Given the description of an element on the screen output the (x, y) to click on. 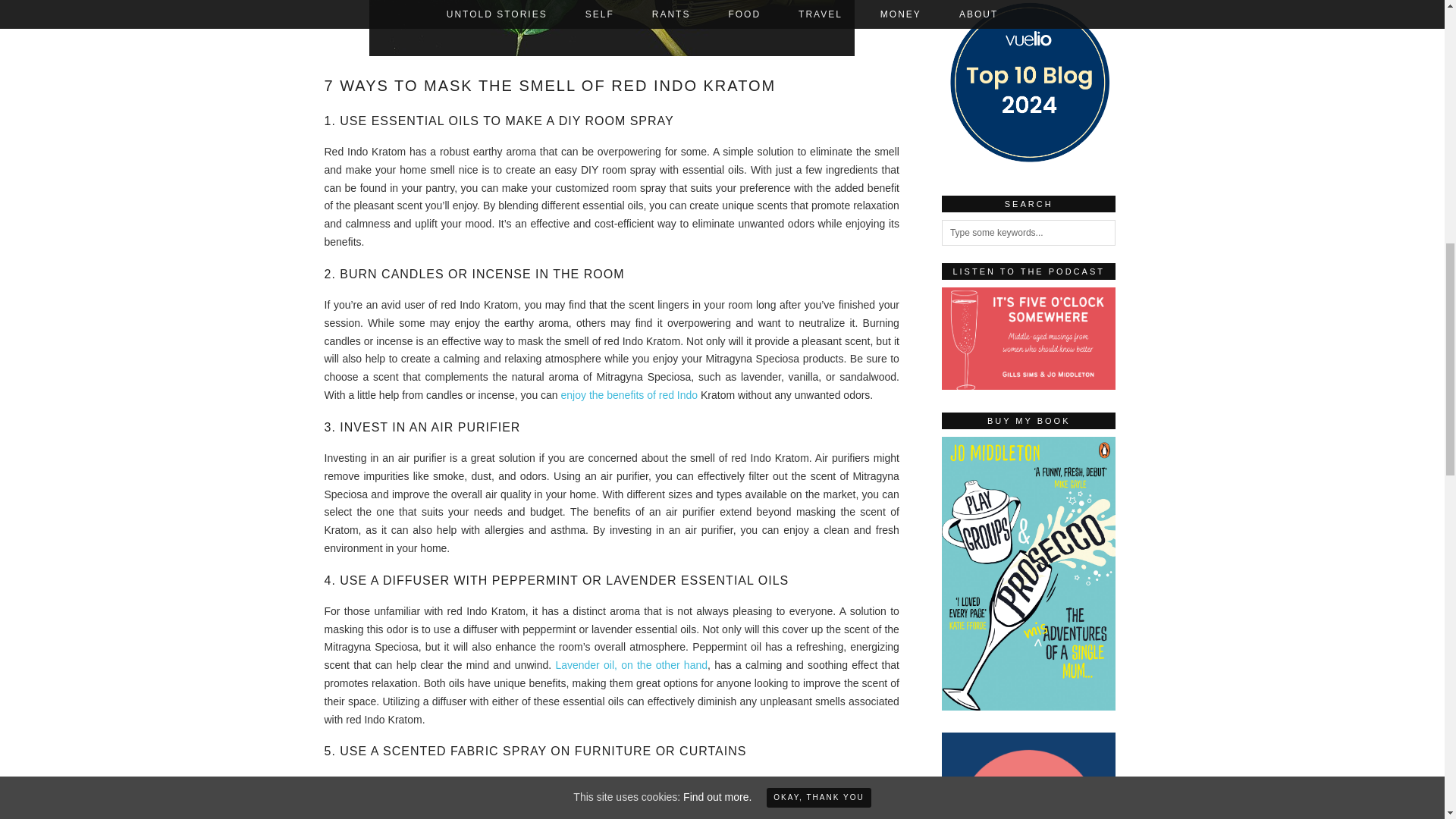
enjoy the benefits of red Indo (629, 395)
Buy my book (1029, 706)
Lavender oil, on the other hand (630, 664)
Listen to the podcast (1029, 338)
